Given the description of an element on the screen output the (x, y) to click on. 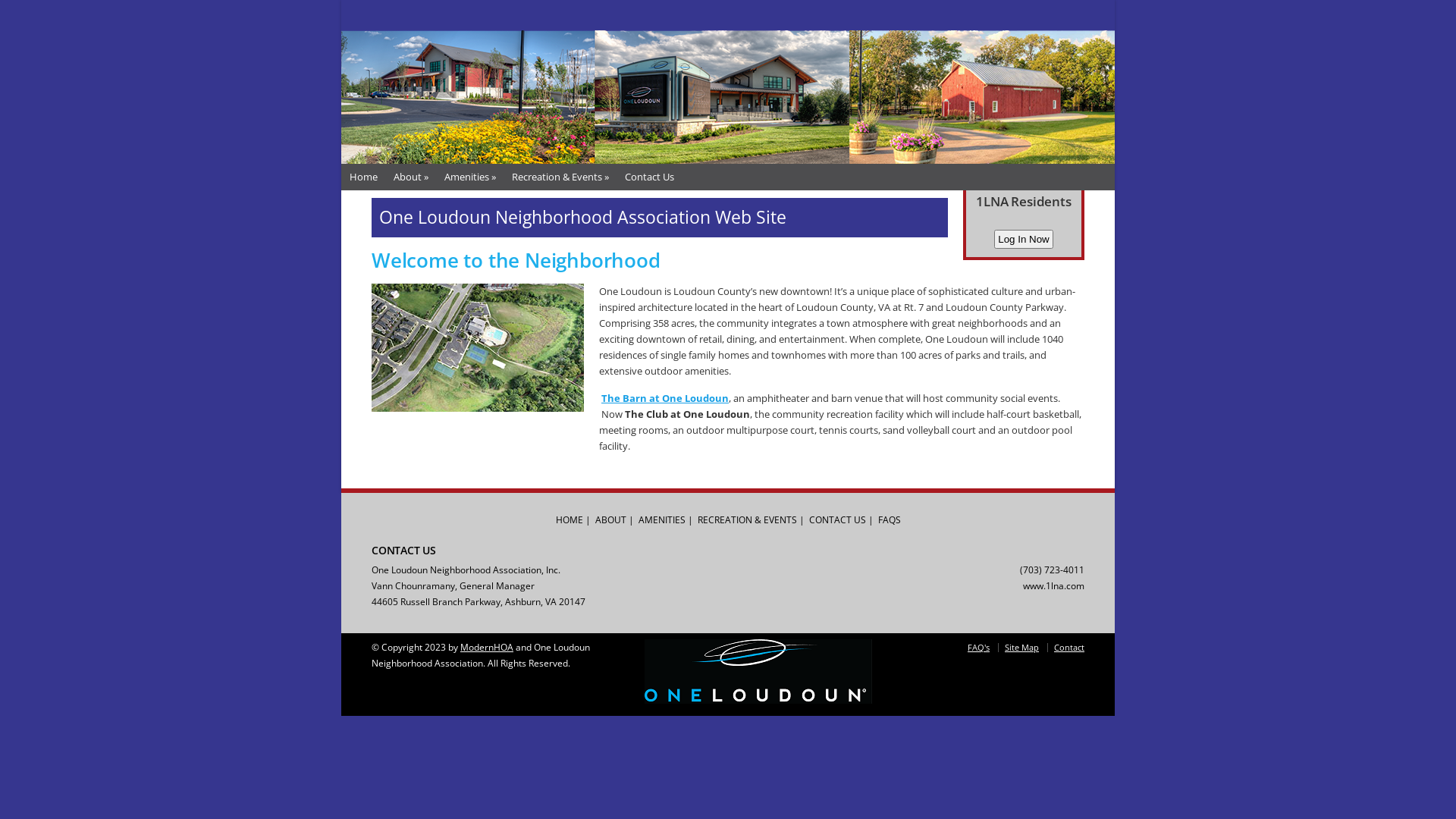
Contact Element type: text (1069, 646)
Home Element type: text (363, 176)
FAQS Element type: text (889, 519)
ModernHOA Element type: text (486, 646)
RECREATION & EVENTS Element type: text (747, 519)
CONTACT US Element type: text (836, 519)
Contact Us Element type: text (649, 176)
FAQ's Element type: text (978, 646)
HOME Element type: text (568, 519)
AMENITIES Element type: text (661, 519)
The Barn at One Loudoun Element type: text (664, 397)
CONTACT US Element type: text (403, 549)
Log In Now Element type: text (1023, 238)
www.1lna.com Element type: text (1053, 585)
ABOUT Element type: text (609, 519)
Site Map Element type: text (1021, 646)
